Given the description of an element on the screen output the (x, y) to click on. 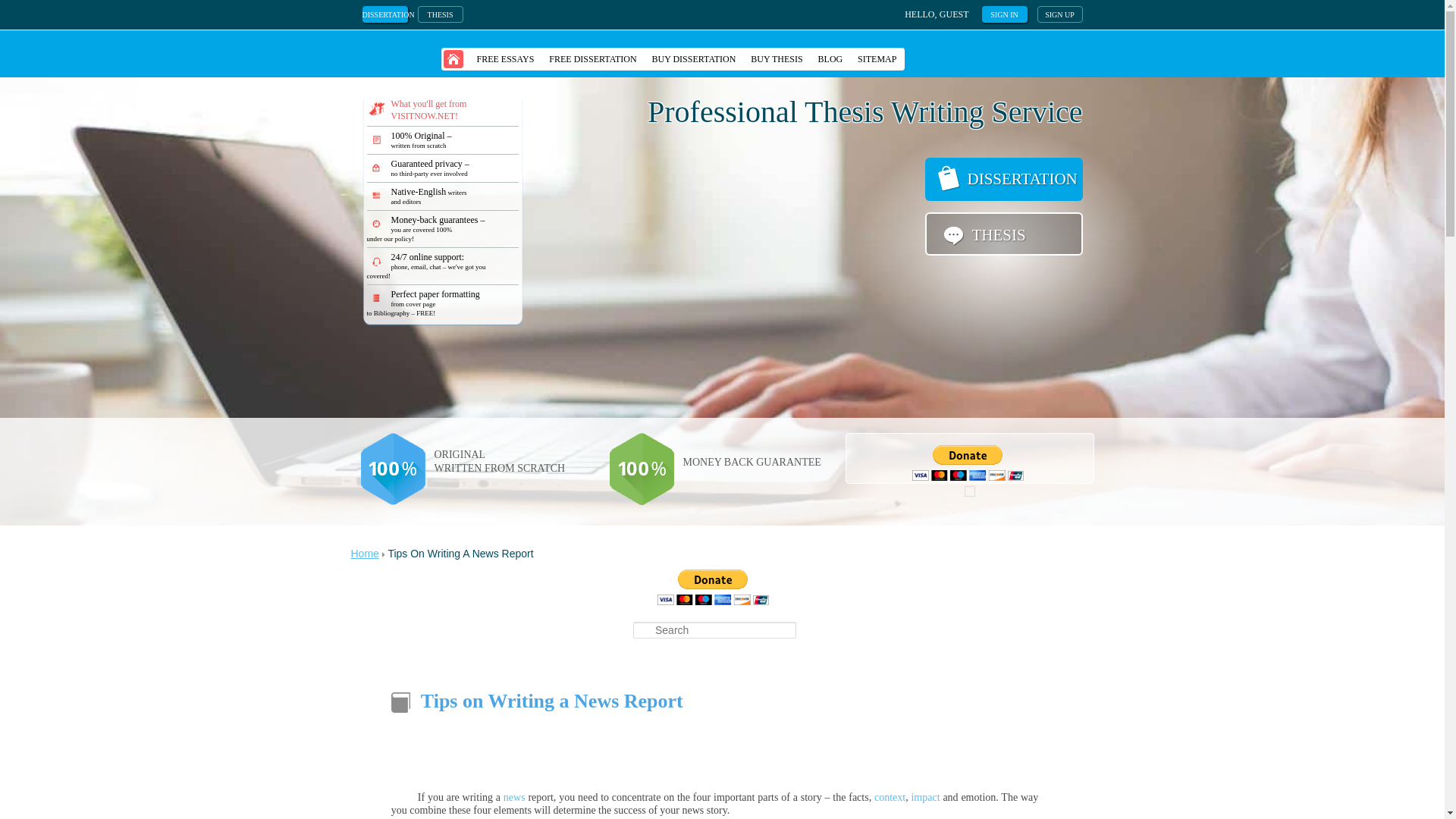
FREE DISSERTATION (592, 58)
context (890, 797)
Tips on Writing a News Report (551, 700)
BLOG (830, 58)
BUY THESIS (776, 58)
FREE ESSAYS (505, 58)
impact (925, 797)
Search (22, 7)
Home (364, 553)
Tips on Writing a News Report (551, 700)
BUY DISSERTATION (694, 58)
news (514, 797)
SITEMAP (876, 58)
